Given the description of an element on the screen output the (x, y) to click on. 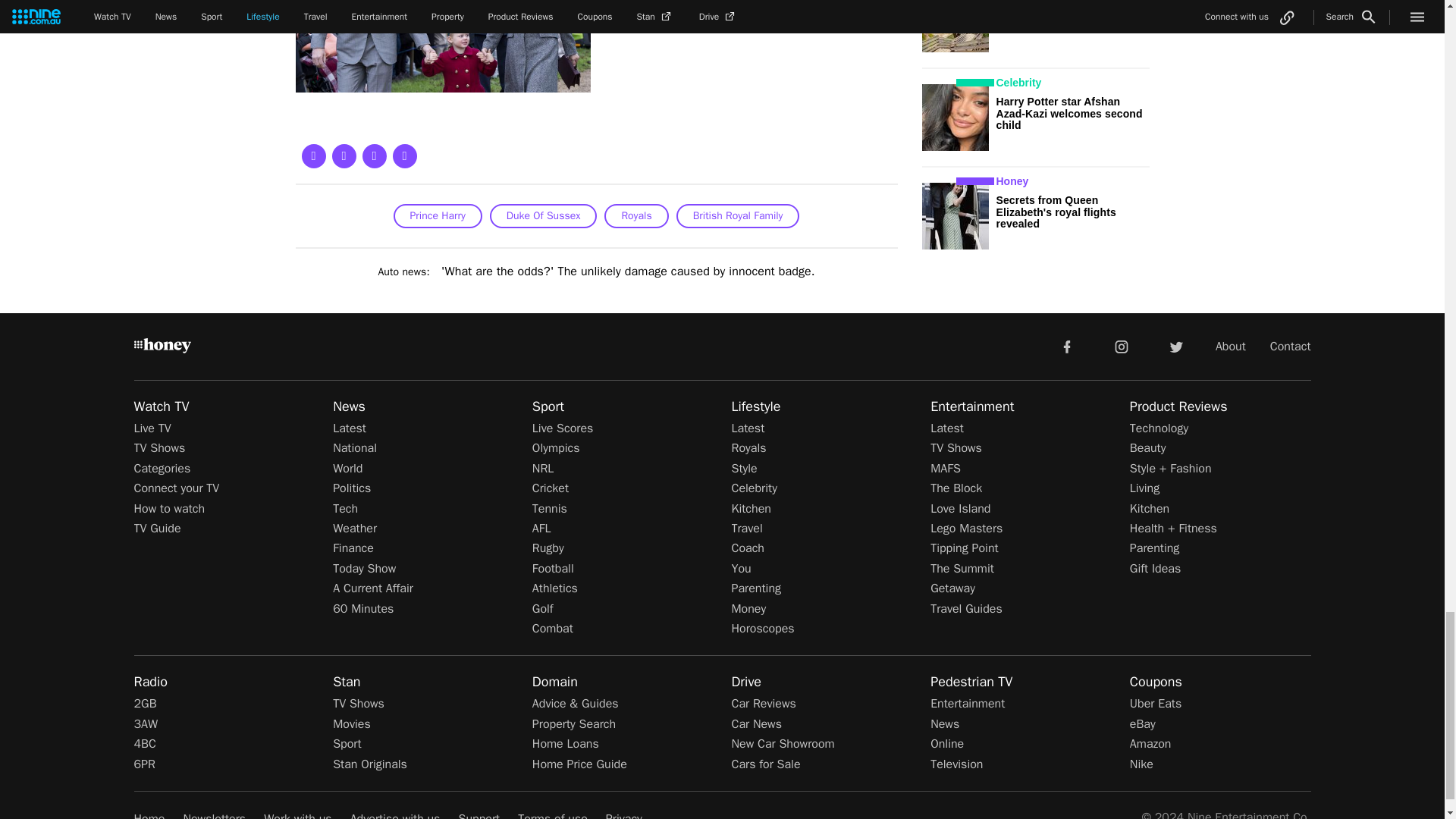
instagram (1121, 345)
twitter (1175, 345)
facebook (1066, 345)
